Given the description of an element on the screen output the (x, y) to click on. 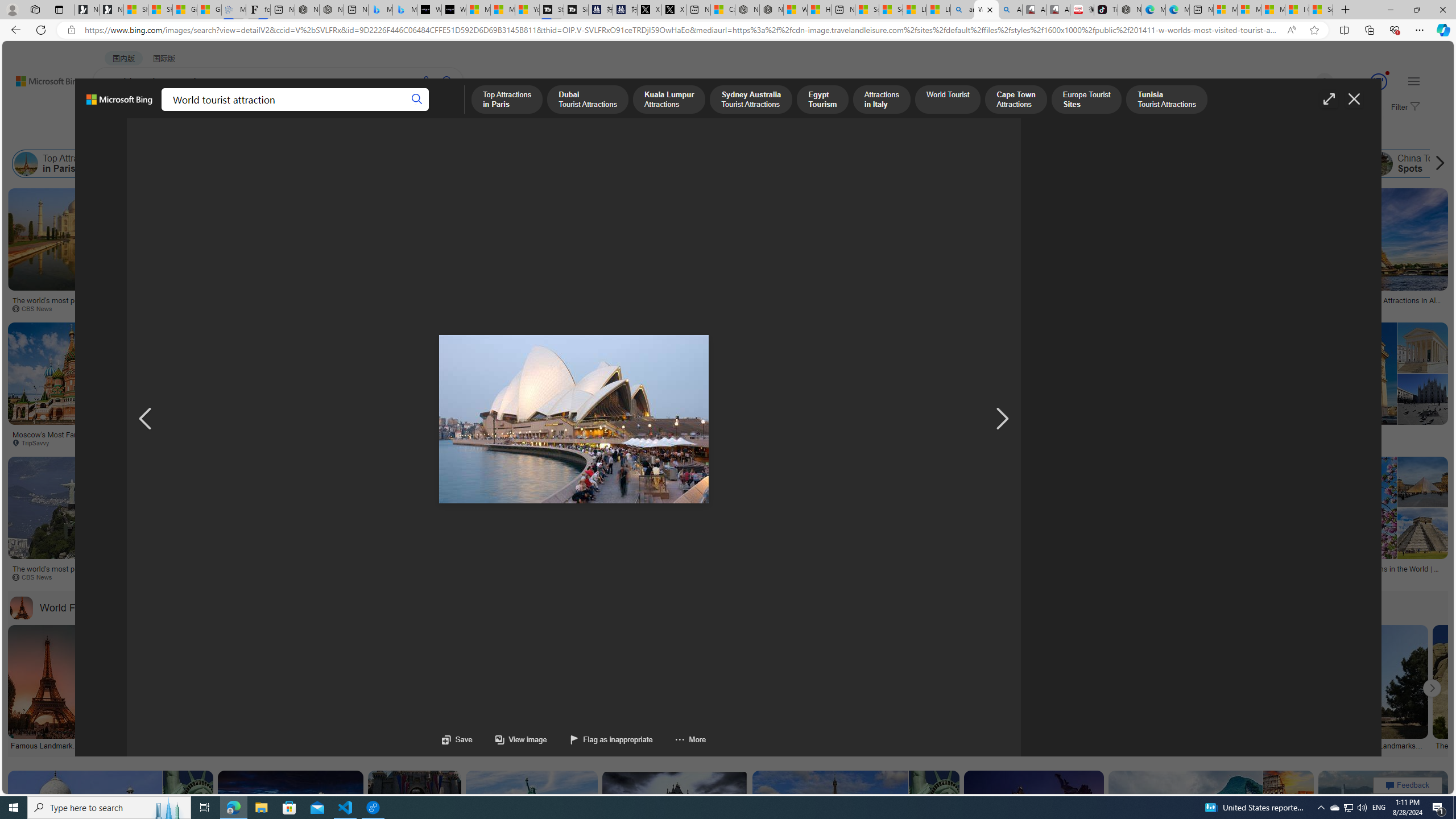
People (295, 135)
Egypt Tourism (519, 163)
Microsoft Start Sports (478, 9)
Amazon Echo Robot - Search Images (1009, 9)
People (295, 135)
Sydney Australia Tourist Attractions (359, 163)
China Tourist Spots (1380, 163)
